Given the description of an element on the screen output the (x, y) to click on. 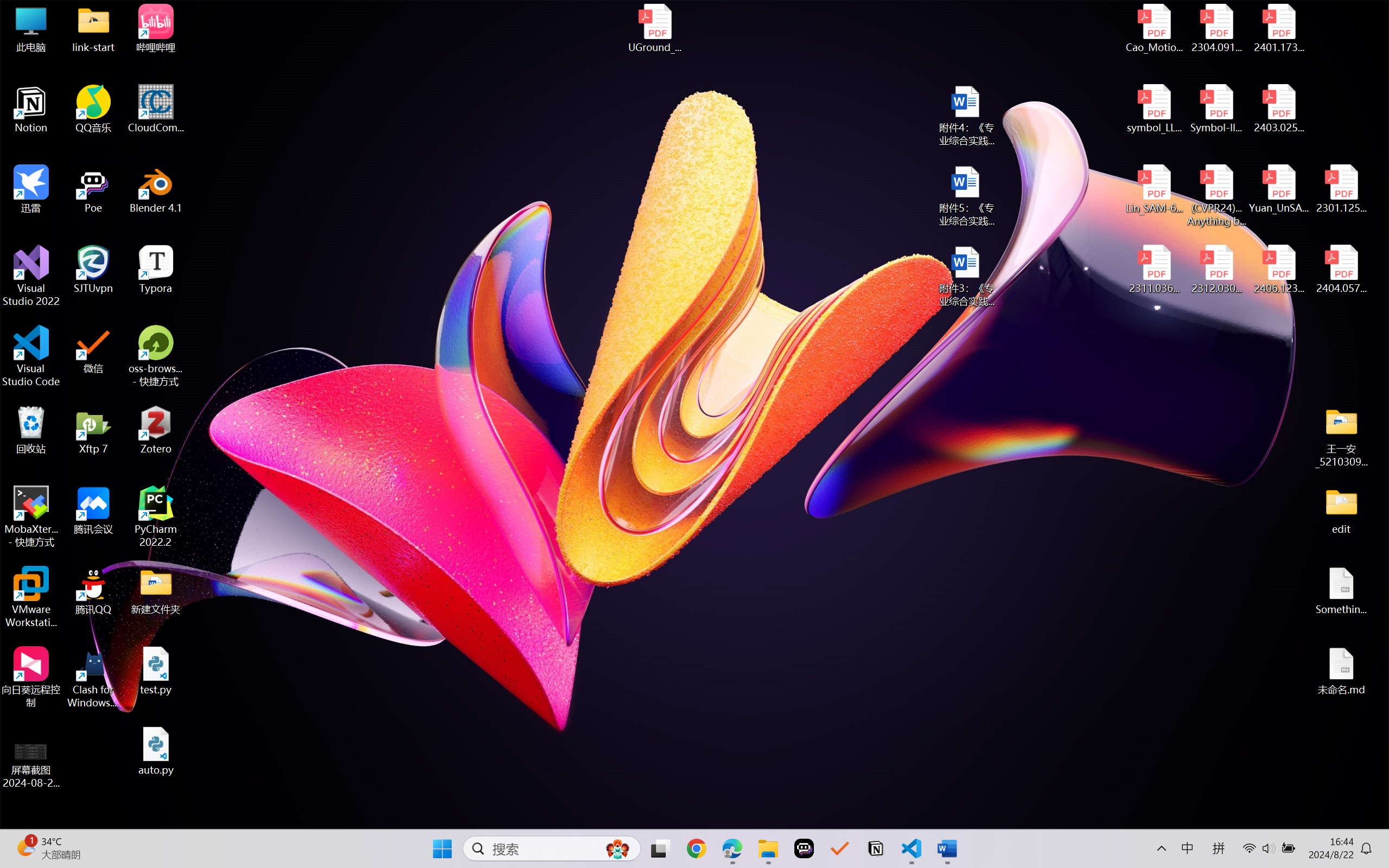
Xftp 7 (93, 430)
2406.12373v2.pdf (1278, 269)
